Given the description of an element on the screen output the (x, y) to click on. 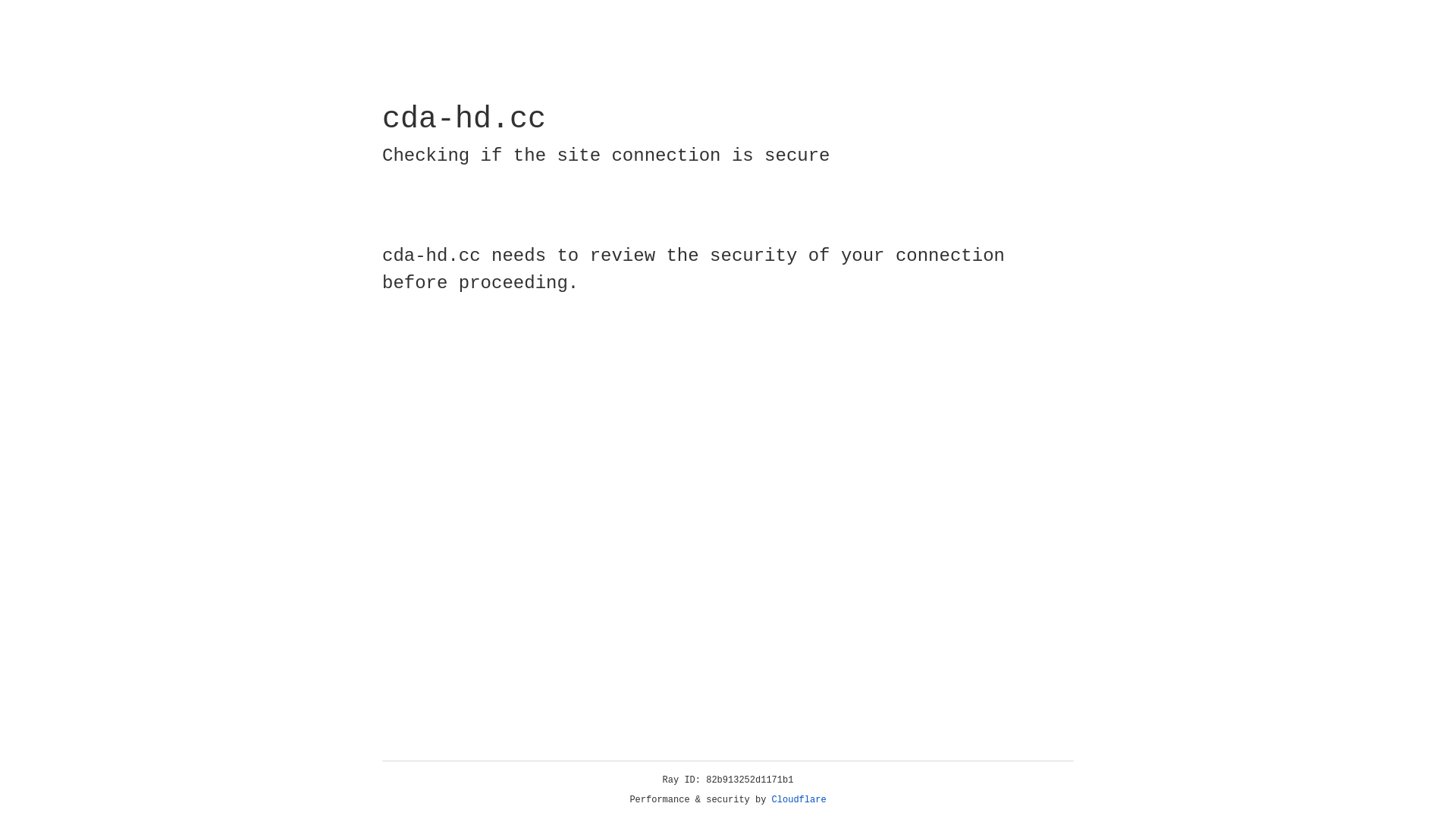
Cloudflare Element type: text (798, 799)
